Given the description of an element on the screen output the (x, y) to click on. 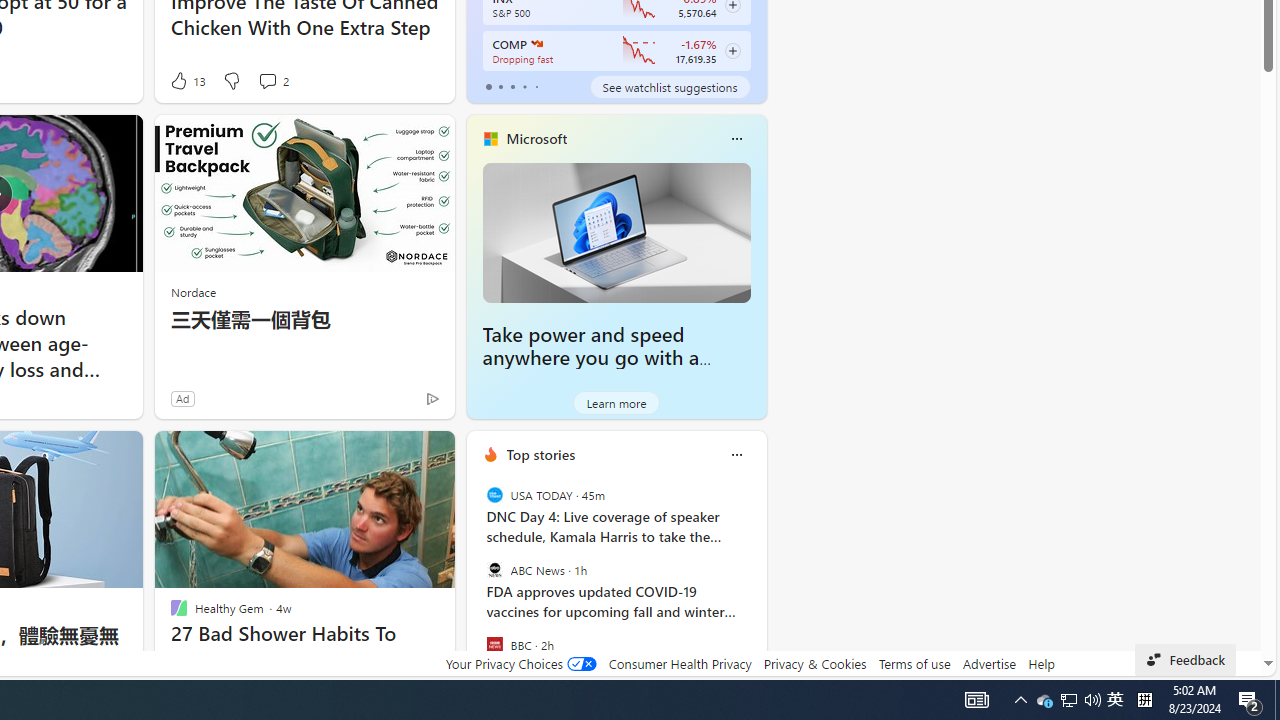
BBC (494, 644)
tab-3 (524, 86)
See watchlist suggestions (669, 86)
